Given the description of an element on the screen output the (x, y) to click on. 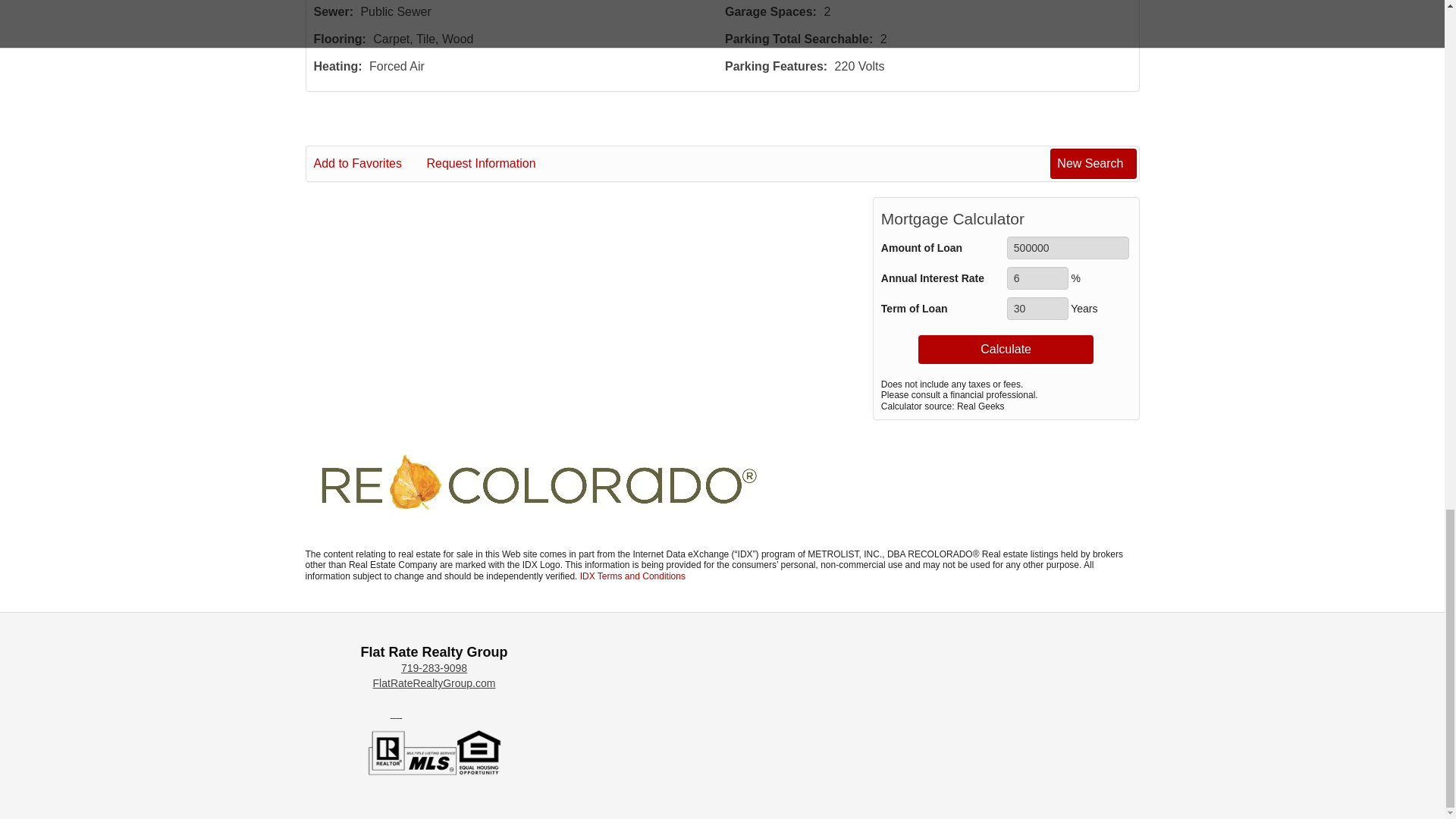
6 (1037, 277)
500000 (1068, 247)
30 (1037, 308)
